Given the description of an element on the screen output the (x, y) to click on. 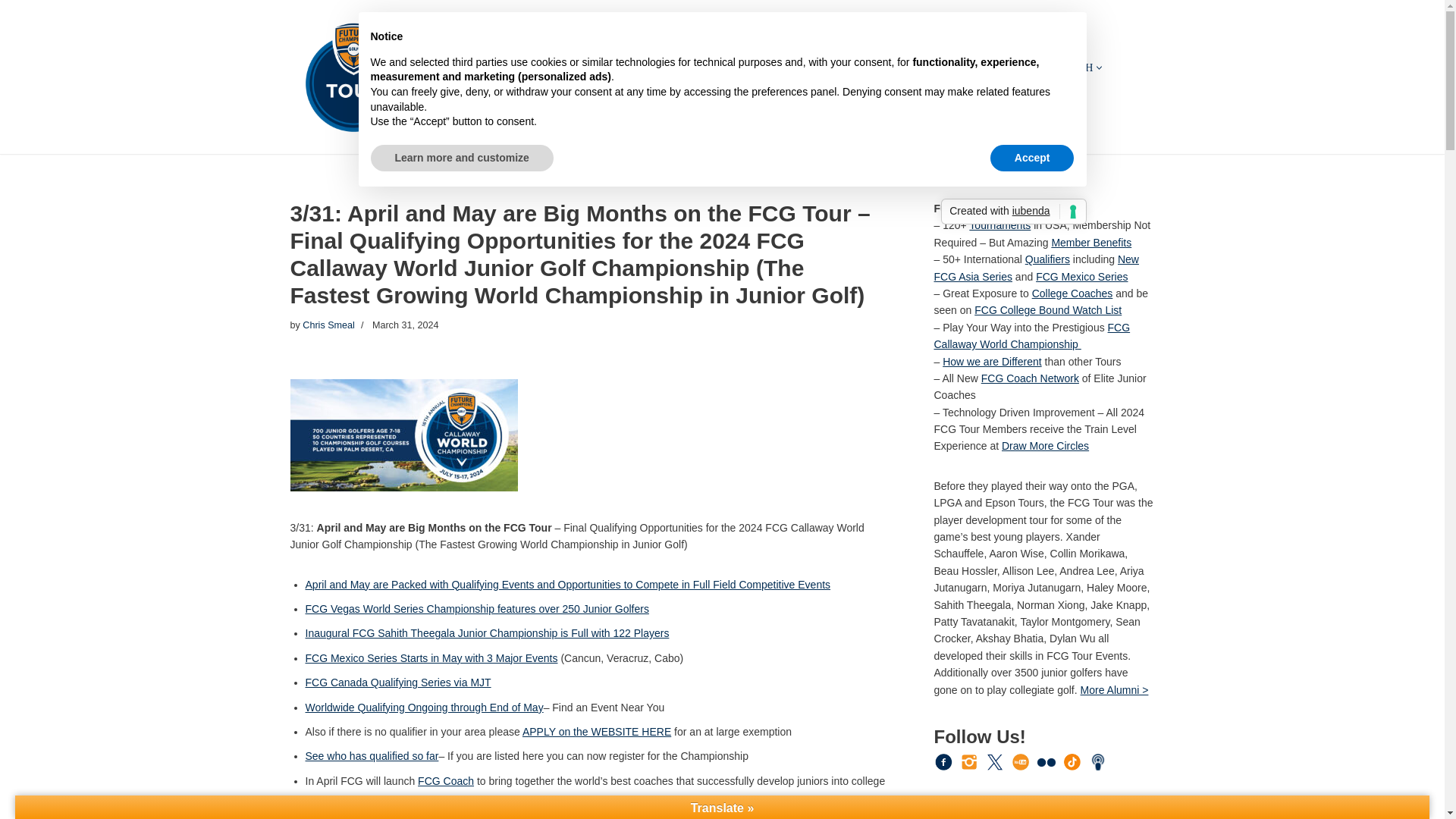
TOUR INFO (517, 67)
Posts by Chris Smeal (328, 325)
Follow Us on TikTok (1071, 761)
Follow Us on YouTube (1020, 761)
Follow Us on Flickr (1045, 762)
Follow Us on Podcasts (1097, 761)
Follow Us on Instagram (968, 761)
HOME (458, 67)
Follow Us on X (994, 761)
Follow Us on Facebook (943, 761)
Skip to content (11, 31)
